Given the description of an element on the screen output the (x, y) to click on. 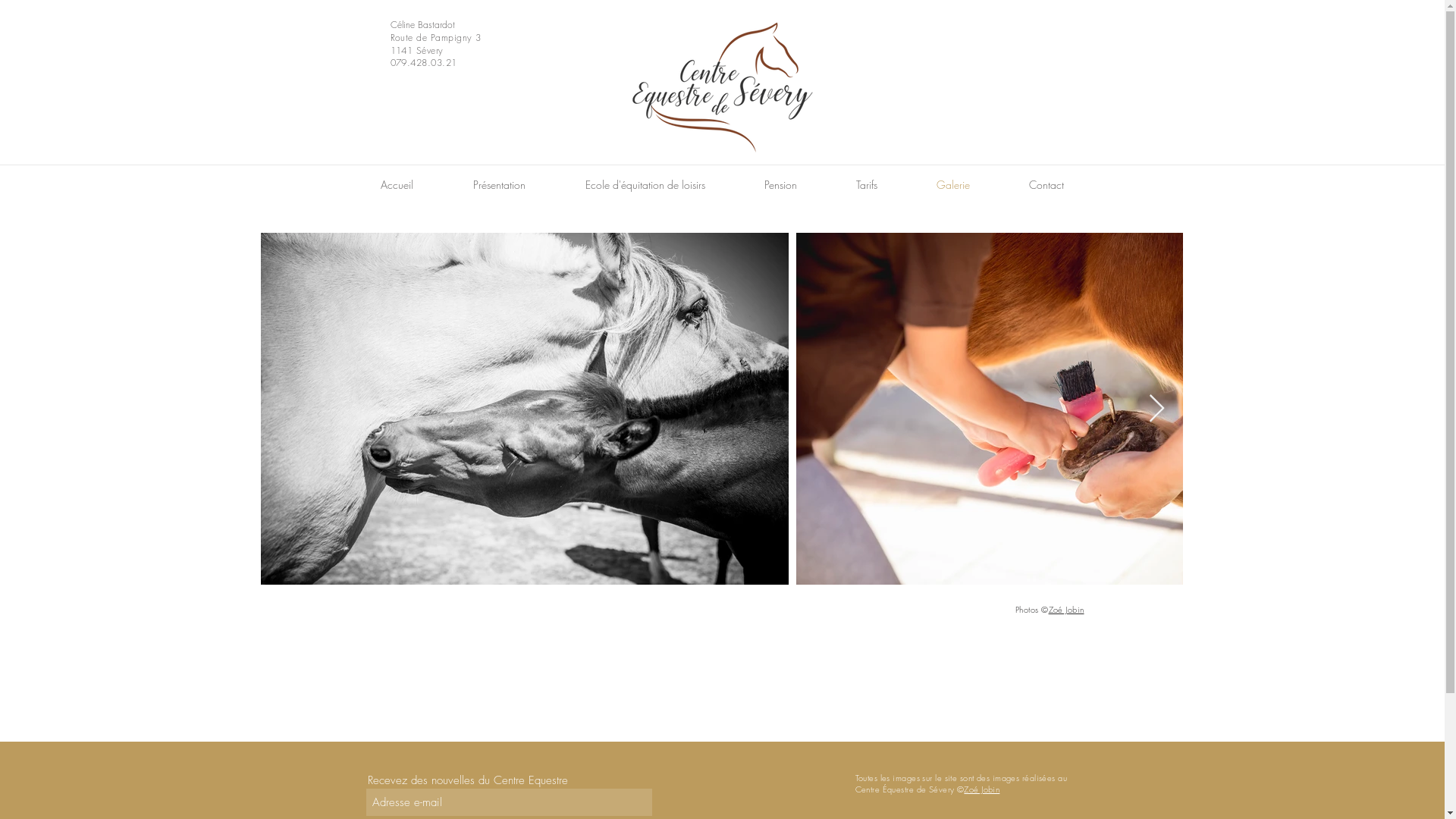
Tarifs Element type: text (866, 184)
Galerie Element type: text (952, 184)
Contact Element type: text (1046, 184)
Accueil Element type: text (396, 184)
Pension Element type: text (779, 184)
